Given the description of an element on the screen output the (x, y) to click on. 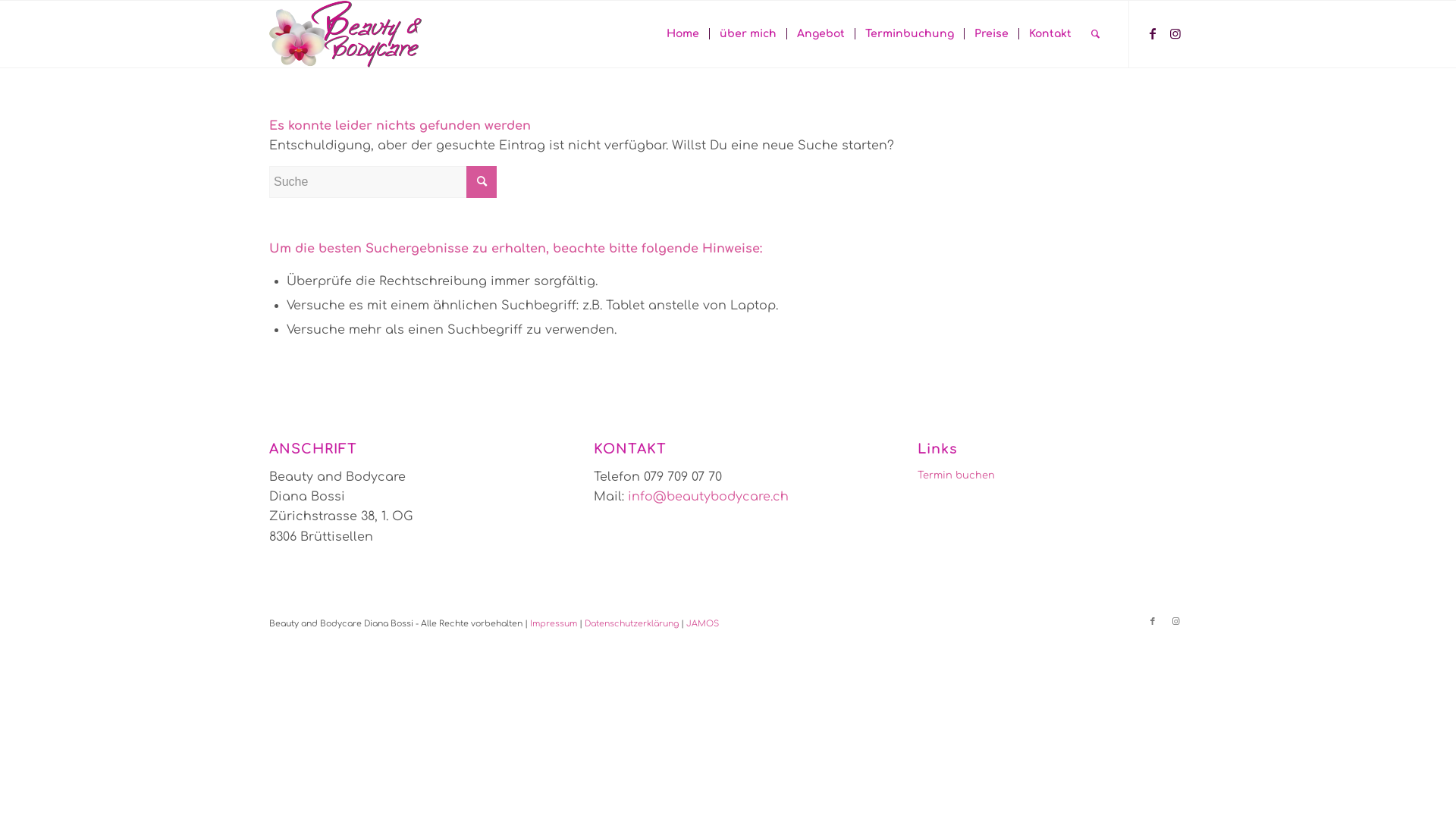
Facebook Element type: hover (1152, 32)
Terminbuchung Element type: text (908, 33)
Termin buchen Element type: text (1051, 475)
Impressum Element type: text (553, 623)
Angebot Element type: text (820, 33)
Instagram Element type: hover (1175, 621)
bbc-logo Element type: hover (345, 33)
Home Element type: text (682, 33)
JAMOS Element type: text (702, 623)
Preise Element type: text (990, 33)
Facebook Element type: hover (1152, 621)
info@beautybodycare.ch Element type: text (707, 496)
Kontakt Element type: text (1049, 33)
Instagram Element type: hover (1175, 32)
